Given the description of an element on the screen output the (x, y) to click on. 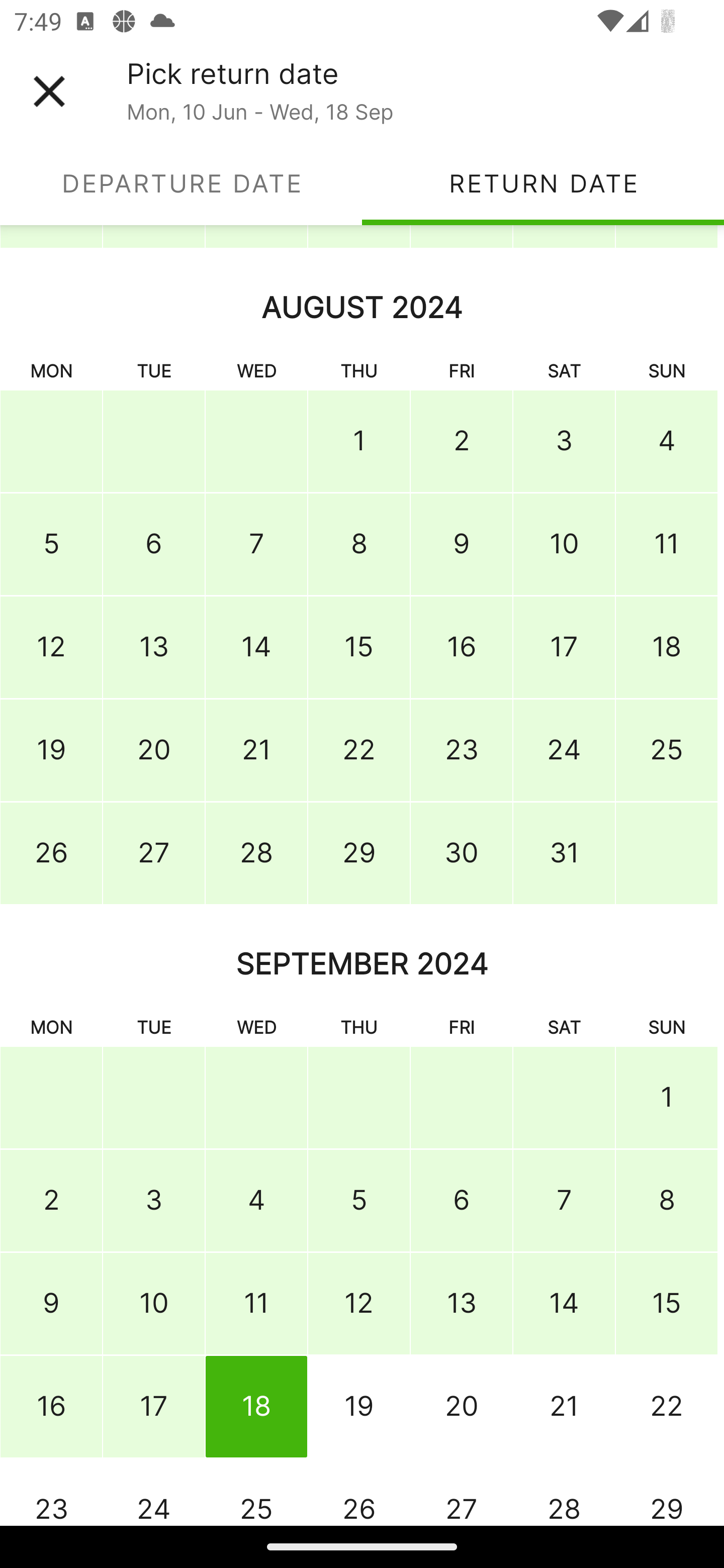
Departure Date DEPARTURE DATE (181, 183)
